Given the description of an element on the screen output the (x, y) to click on. 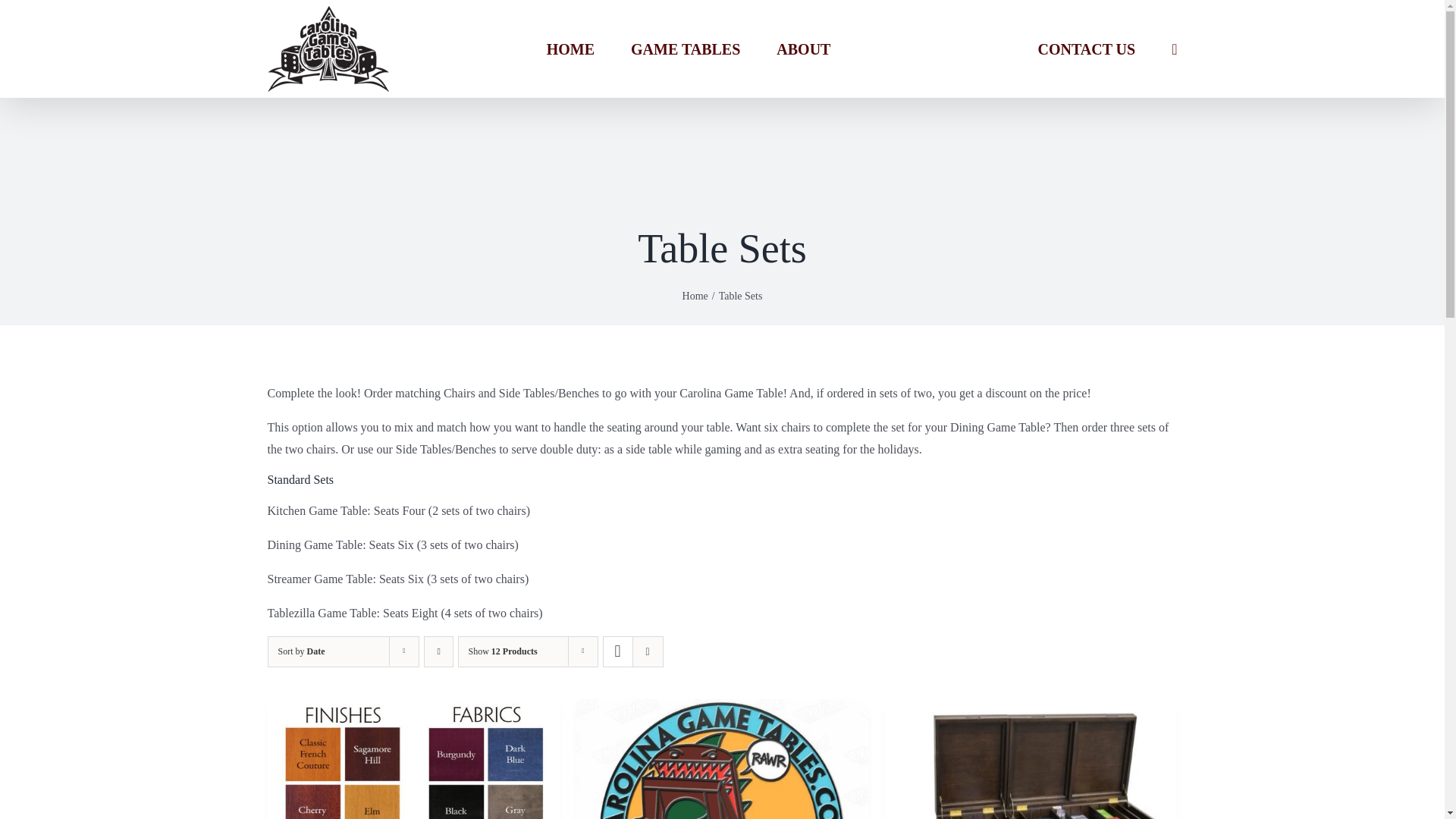
CONTACT US (1085, 48)
GAME TABLES (684, 48)
